Given the description of an element on the screen output the (x, y) to click on. 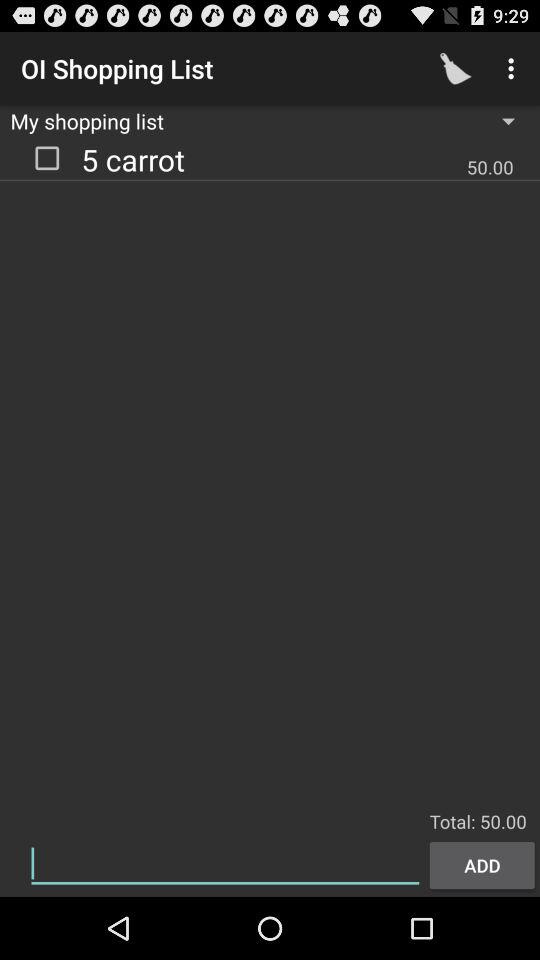
type the message (225, 863)
